Given the description of an element on the screen output the (x, y) to click on. 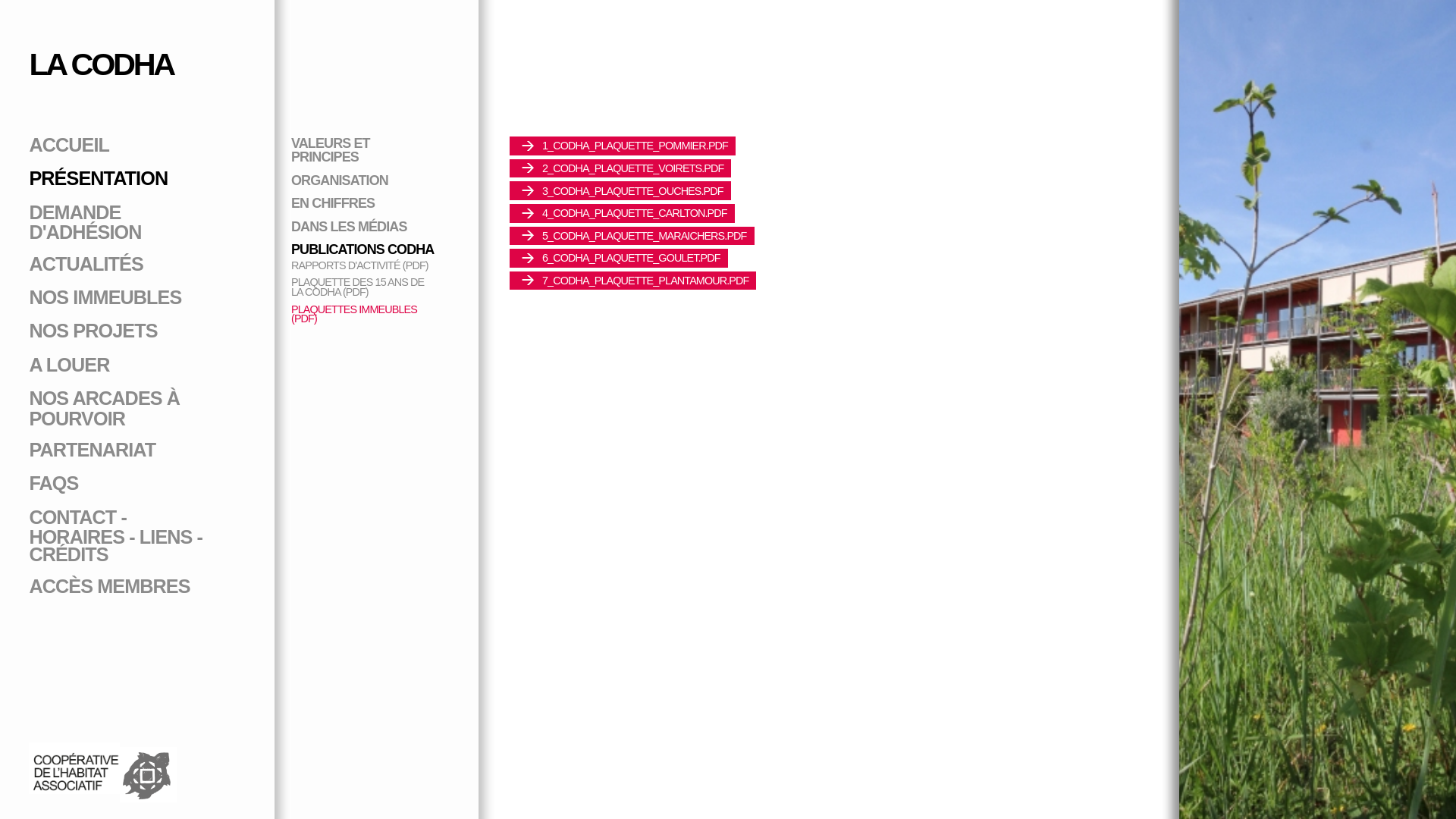
2_CODHA_PLAQUETTE_VOIRETS.PDF Element type: text (620, 168)
PLAQUETTES IMMEUBLES (PDF) Element type: text (354, 314)
7_CODHA_PLAQUETTE_PLANTAMOUR.PDF Element type: text (632, 280)
3_CODHA_PLAQUETTE_OUCHES.PDF Element type: text (620, 190)
NOS PROJETS Element type: text (92, 330)
ORGANISATION Element type: text (339, 180)
NOS IMMEUBLES Element type: text (104, 296)
EN CHIFFRES Element type: text (332, 202)
FAQS Element type: text (53, 482)
1_CODHA_PLAQUETTE_POMMIER.PDF Element type: text (622, 145)
5_CODHA_PLAQUETTE_MARAICHERS.PDF Element type: text (631, 234)
PLAQUETTE DES 15 ANS DE LA CODHA (PDF) Element type: text (357, 287)
ACCUEIL Element type: text (68, 144)
LA CODHA Element type: text (100, 64)
A LOUER Element type: text (68, 364)
VALEURS ET PRINCIPES Element type: text (330, 149)
6_CODHA_PLAQUETTE_GOULET.PDF Element type: text (618, 257)
4_CODHA_PLAQUETTE_CARLTON.PDF Element type: text (621, 212)
PARTENARIAT Element type: text (91, 449)
PUBLICATIONS CODHA Element type: text (362, 249)
